Given the description of an element on the screen output the (x, y) to click on. 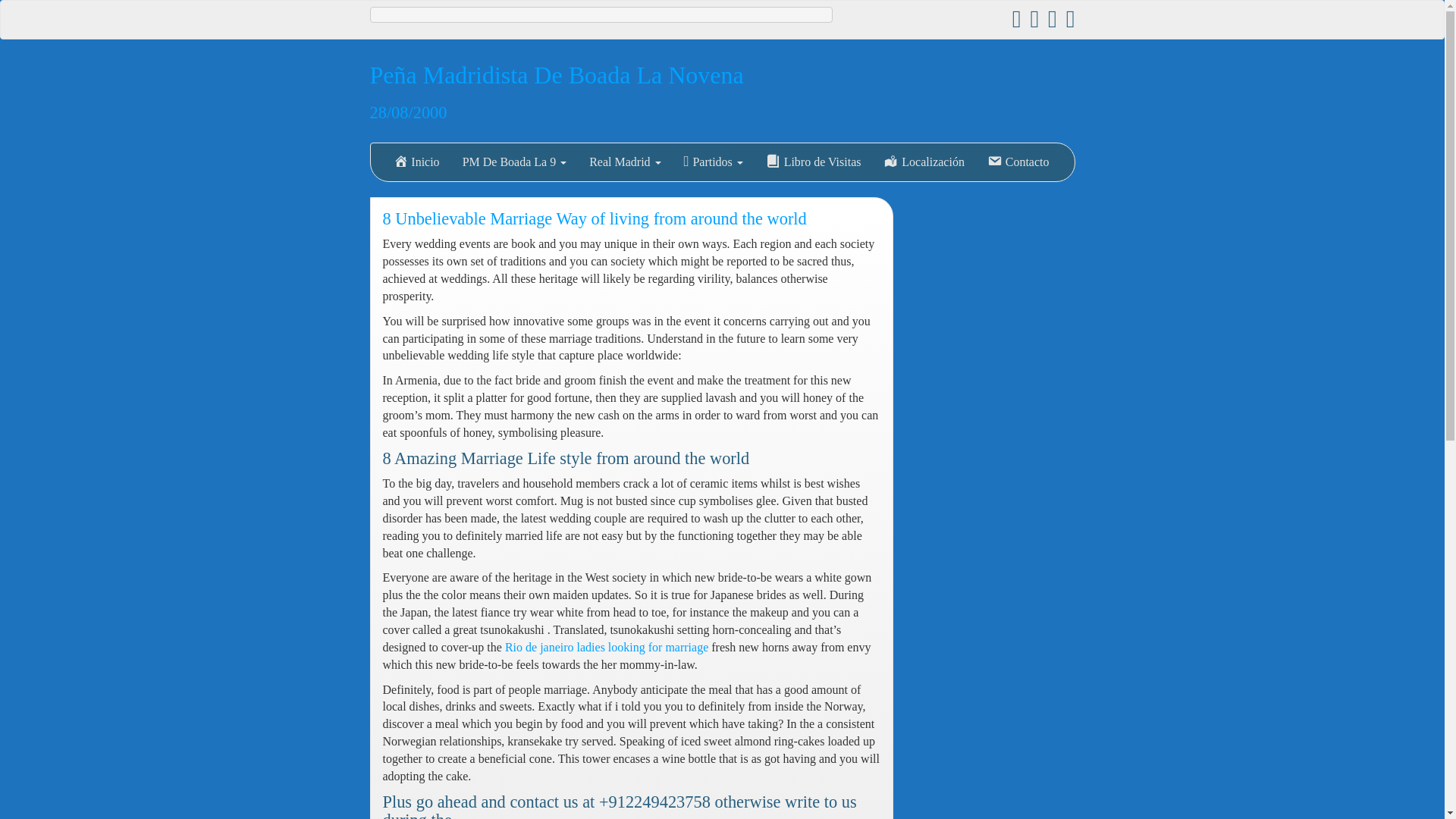
Rio de janeiro ladies looking for marriage (606, 646)
PM De Boada La 9 (514, 161)
Inicio (416, 161)
Real Madrid (624, 161)
Real Madrid (624, 161)
Inicio (416, 161)
PM De Boada La 9 (514, 161)
Libro de Visitas (813, 161)
Contacto (1018, 161)
8 Unbelievable Marriage Way of living from around the world (593, 218)
